Given the description of an element on the screen output the (x, y) to click on. 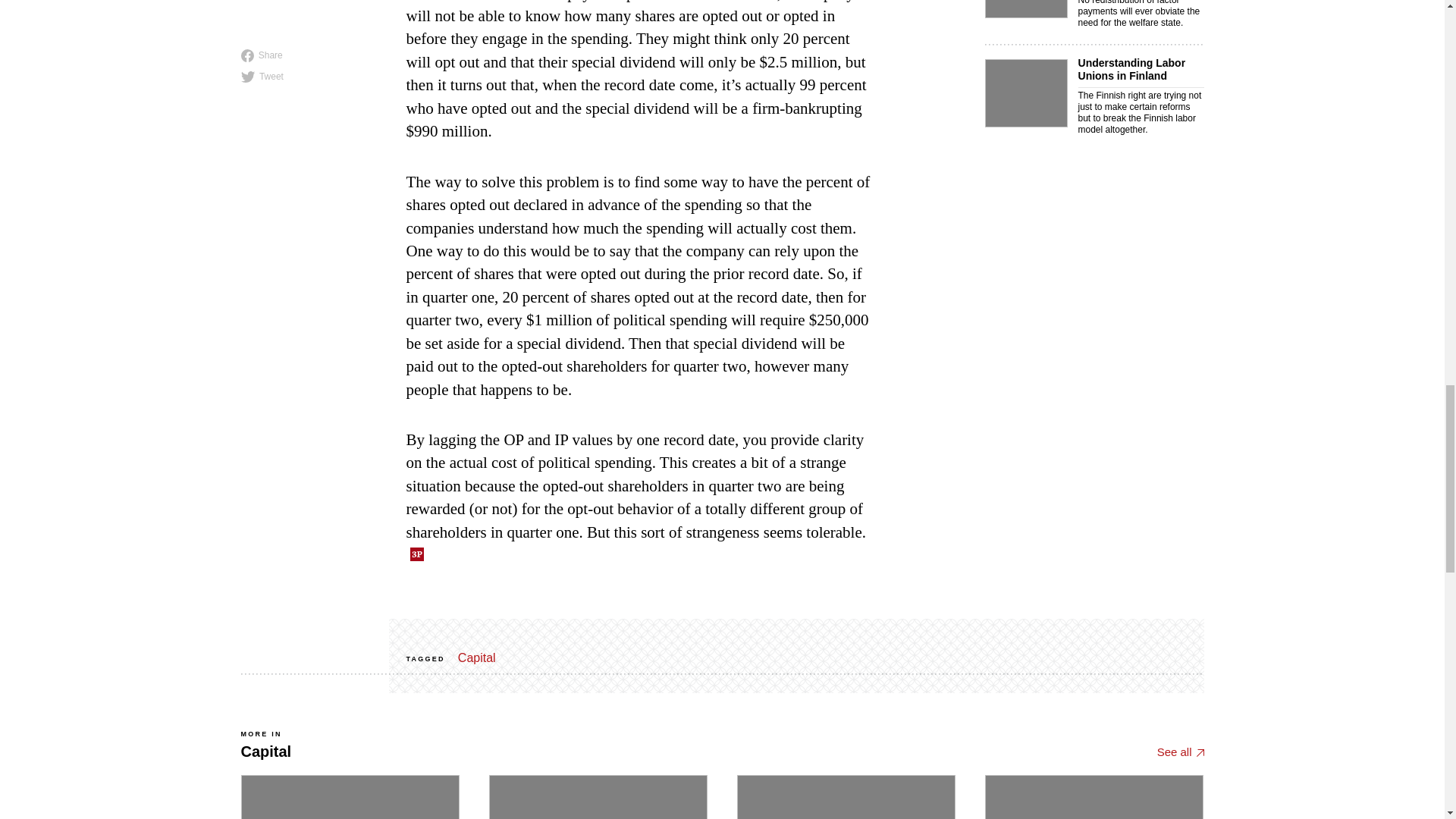
Capital (309, 283)
See all (477, 657)
